Given the description of an element on the screen output the (x, y) to click on. 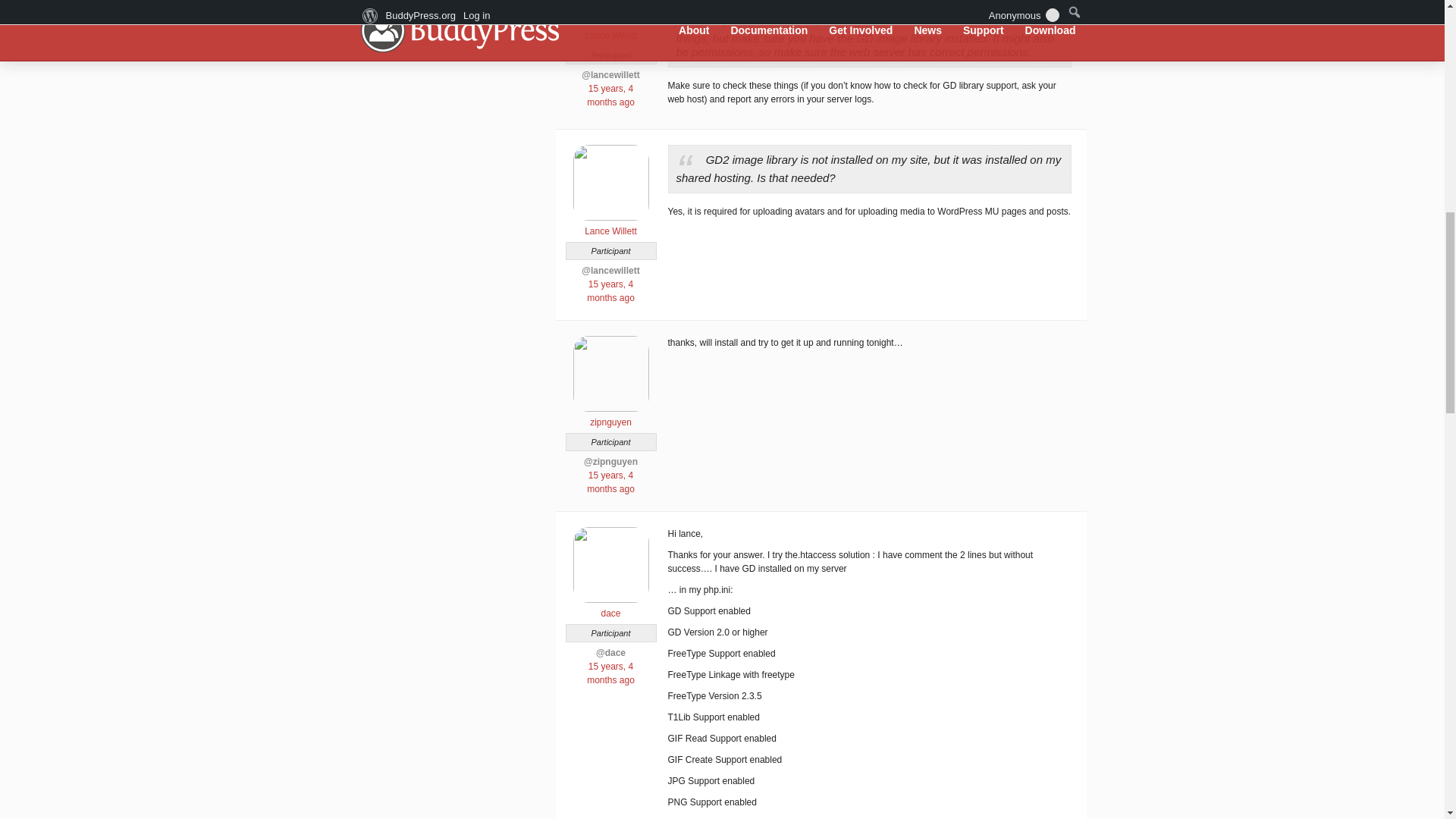
15 years, 4 months ago (610, 672)
15 years, 4 months ago (610, 95)
15 years, 4 months ago (610, 291)
15 years, 4 months ago (610, 482)
Lance Willett (609, 225)
Lance Willett (609, 29)
zipnguyen (609, 416)
dace (609, 606)
